Given the description of an element on the screen output the (x, y) to click on. 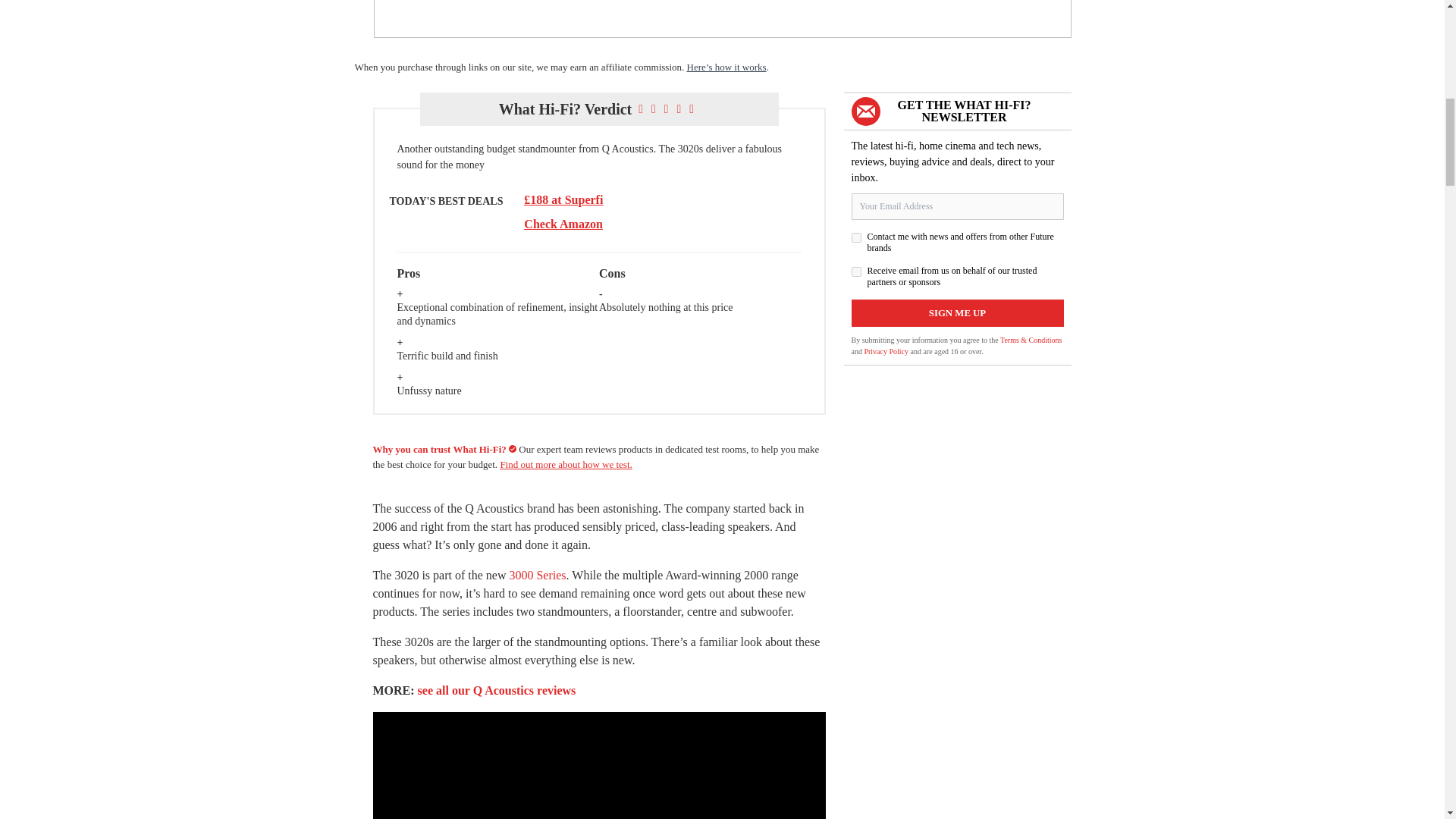
on (855, 237)
Sign me up (956, 312)
on (855, 271)
